Given the description of an element on the screen output the (x, y) to click on. 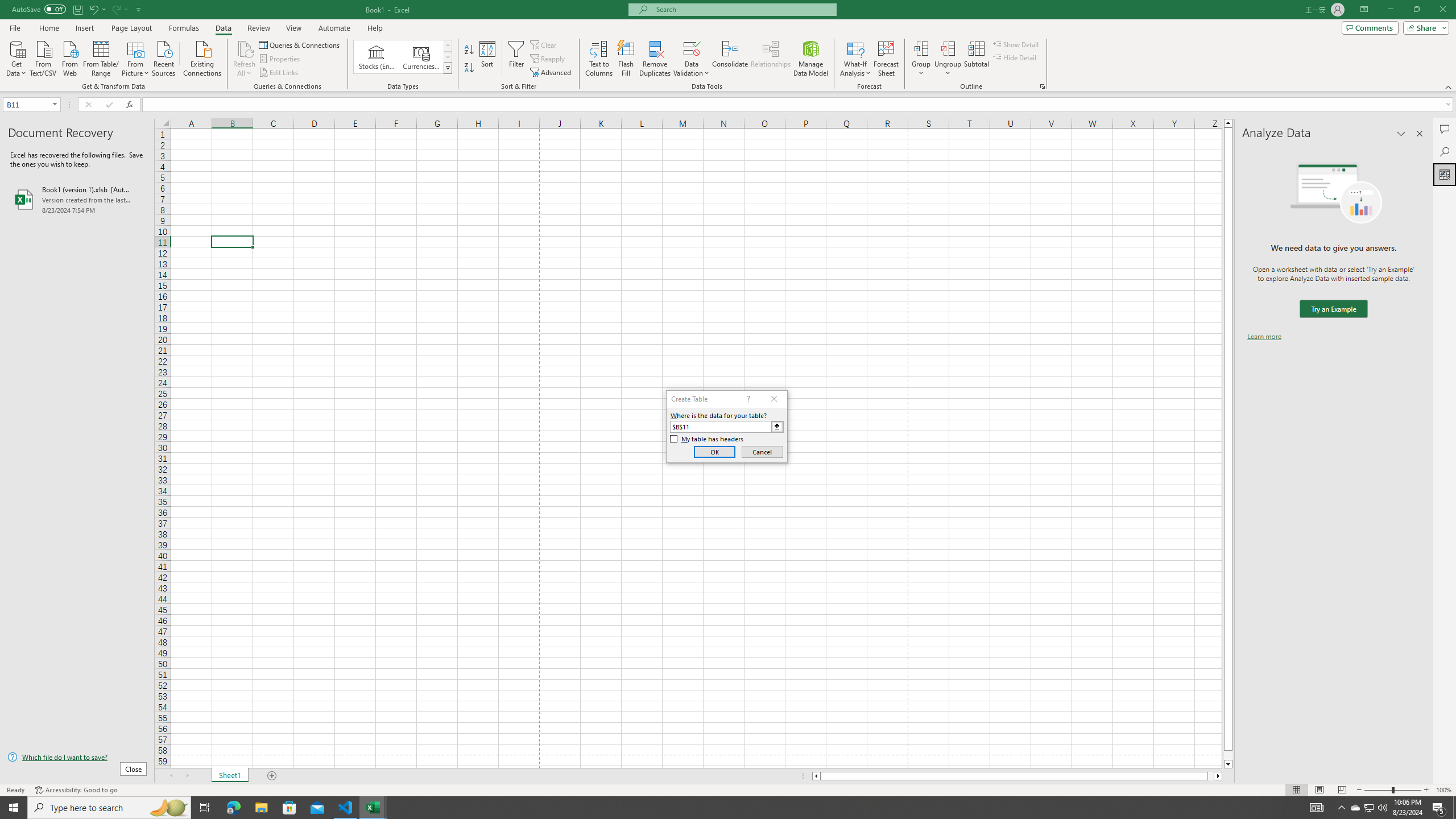
Customize Quick Access Toolbar (139, 9)
Consolidate... (729, 58)
Page Break Preview (1342, 790)
From Picture (135, 57)
We need data to give you answers. Try an Example (1333, 308)
Column right (1218, 775)
From Web (69, 57)
Data (223, 28)
Text to Columns... (598, 58)
Sort... (487, 58)
Collapse the Ribbon (1448, 86)
Ribbon Display Options (1364, 9)
